Given the description of an element on the screen output the (x, y) to click on. 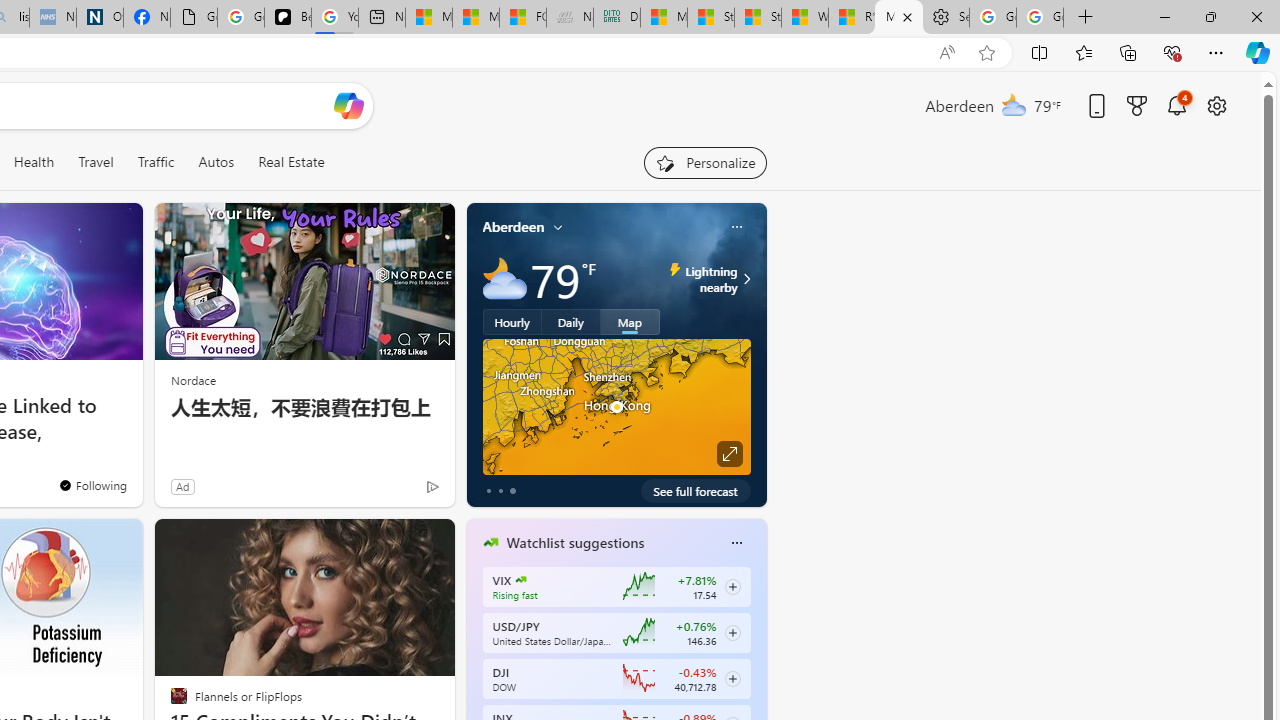
Be Smart | creating Science videos | Patreon (288, 17)
Class: weather-arrow-glyph (746, 278)
CBOE Market Volatility Index (520, 579)
Class: icon-img (736, 542)
Aberdeen (513, 227)
Click to see more information (728, 453)
R******* | Trusted Community Engagement and Contributions (852, 17)
Hide this story (393, 542)
Daily (571, 321)
